Given the description of an element on the screen output the (x, y) to click on. 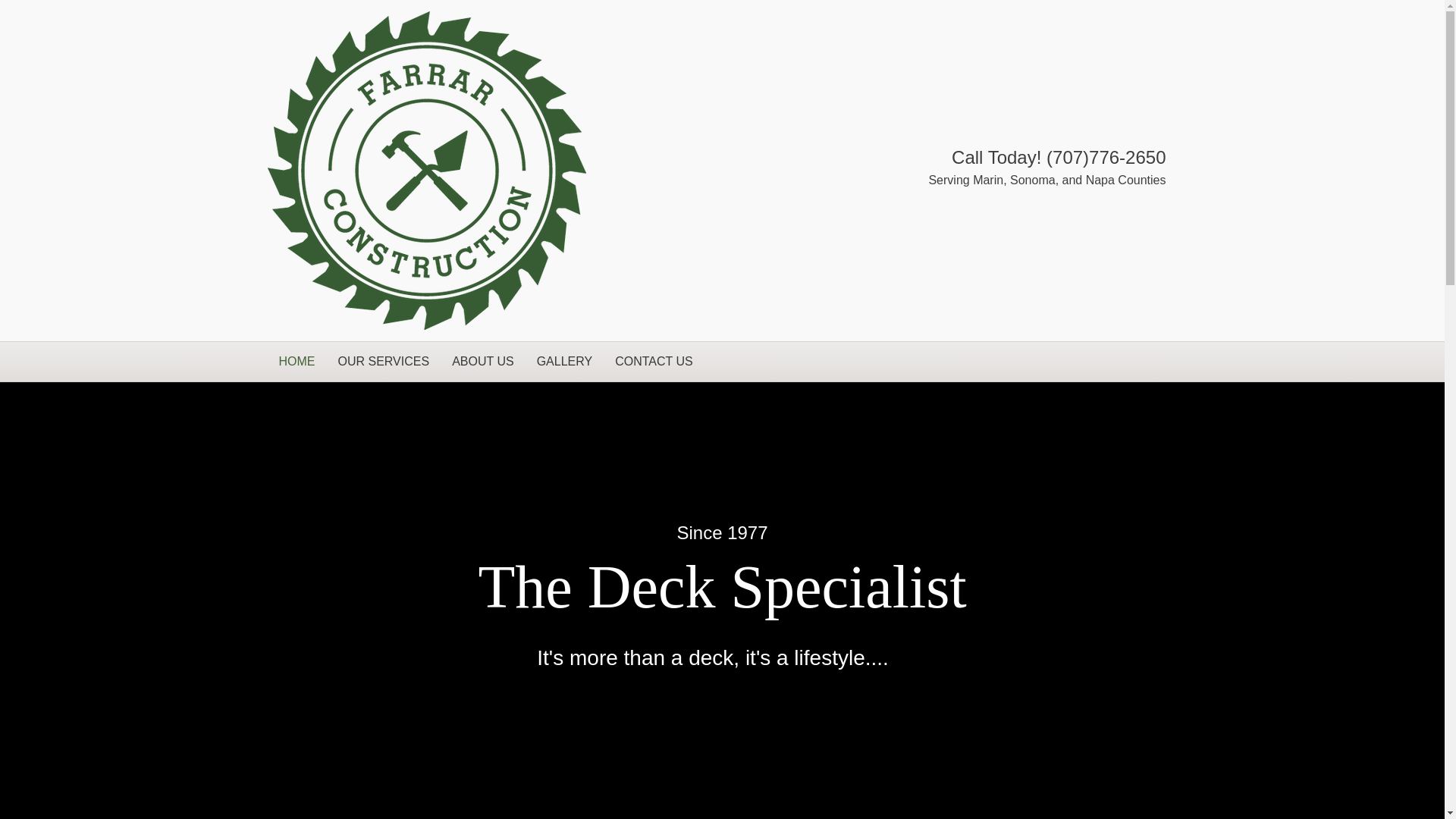
CONTACT US (654, 361)
GALLERY (564, 361)
ABOUT US (483, 361)
HOME (296, 361)
OUR SERVICES (383, 361)
